Given the description of an element on the screen output the (x, y) to click on. 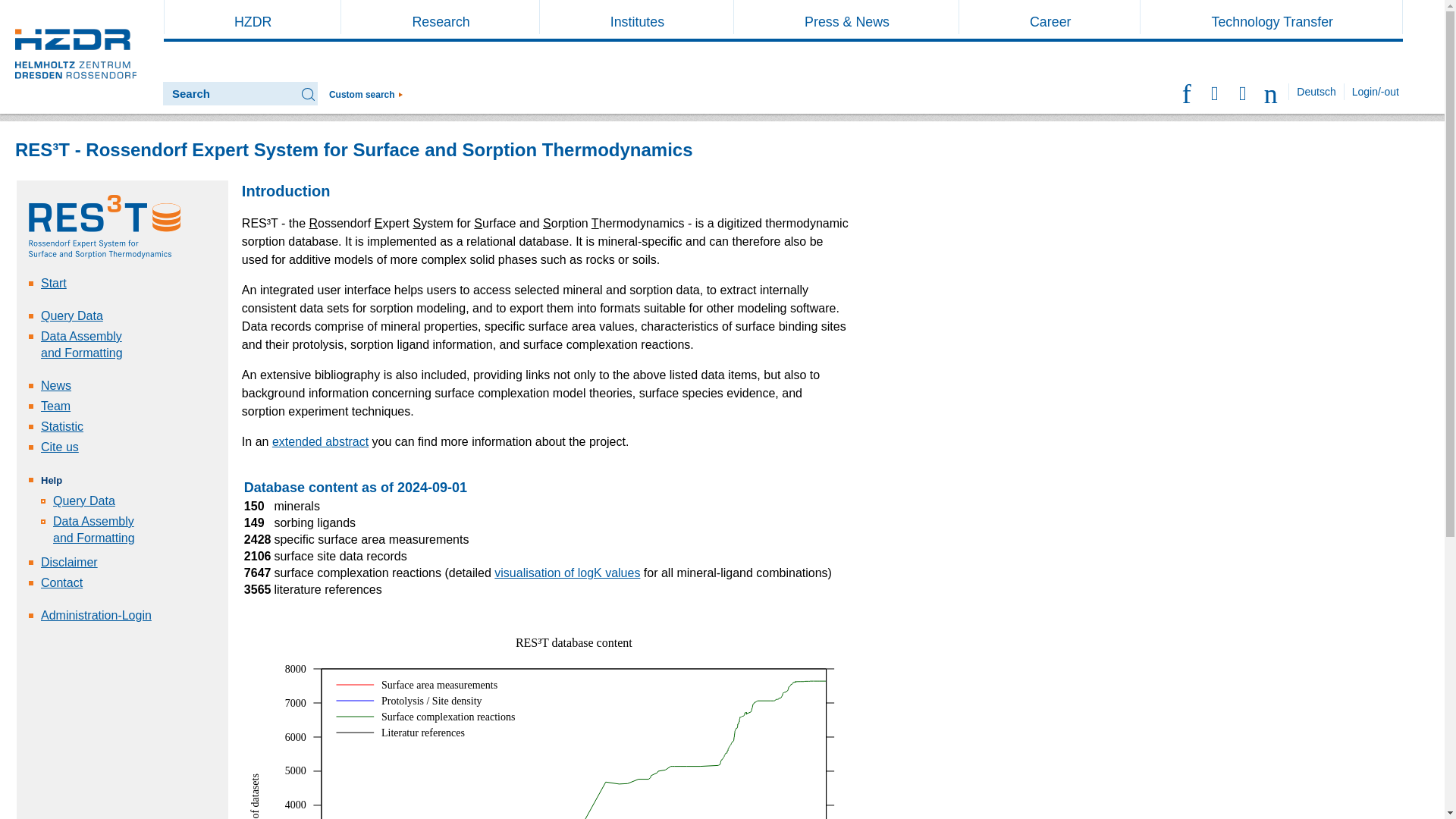
Twitter (1187, 91)
Search for webpages, files, contacts and publications (366, 94)
Institutes (636, 20)
LinkedIn (1243, 91)
Deutsch (1315, 91)
Mastodon (1215, 91)
Helmholtz-Zentrum Dresden Rossendorf (75, 58)
YouTube (1271, 91)
HZDR (251, 20)
Research (439, 20)
